Given the description of an element on the screen output the (x, y) to click on. 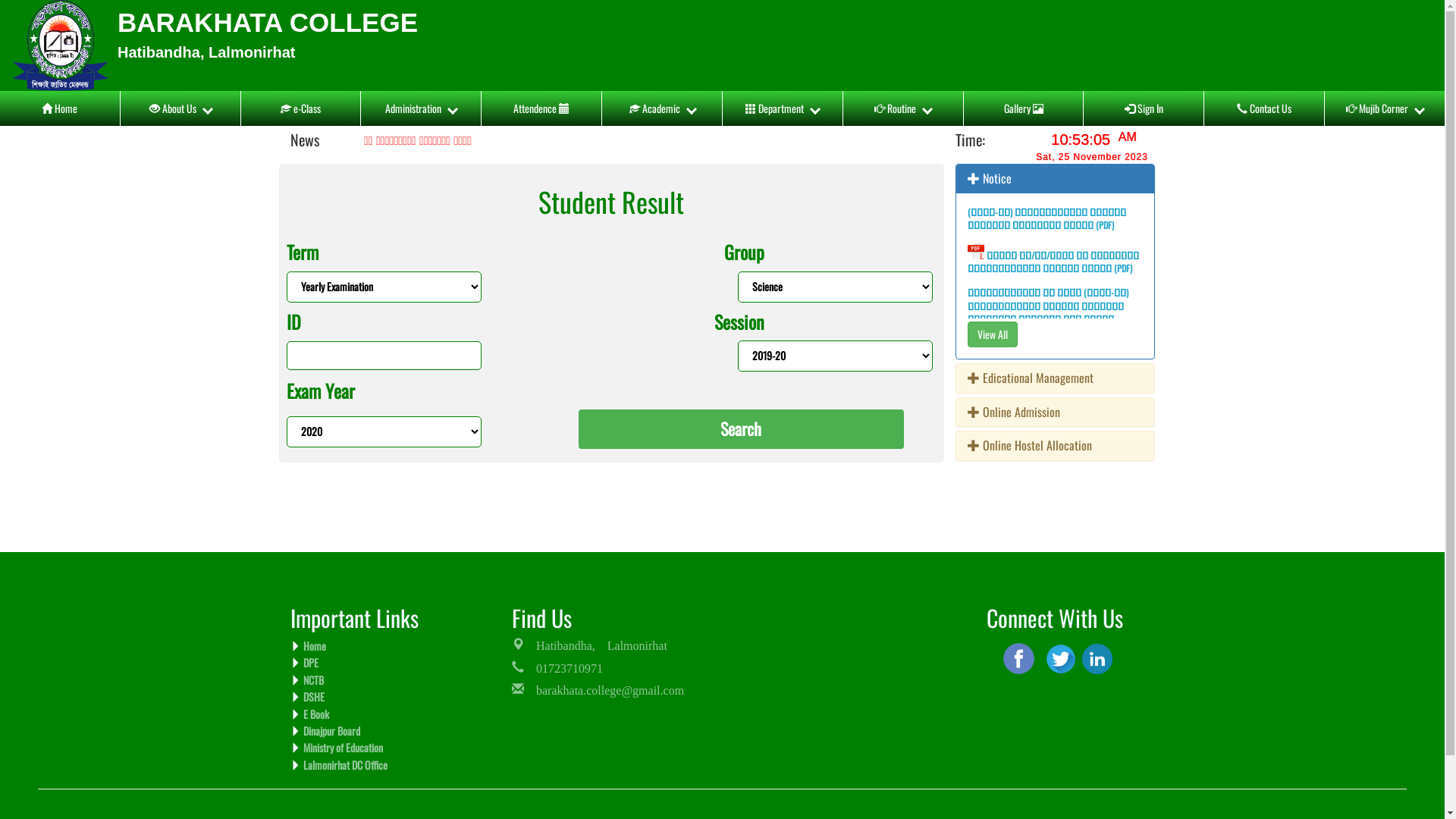
e-Class Element type: text (300, 108)
Ministry of Education Element type: text (341, 747)
Department Element type: text (782, 108)
View All Element type: text (992, 332)
Attendence Element type: text (541, 108)
Hatibandha, Lalmonirhat Element type: text (589, 643)
Contact Us Element type: text (1264, 108)
E Book Element type: text (314, 713)
Administration Element type: text (420, 108)
01723710971 Element type: text (556, 666)
Mahmud Jamil Element type: hover (1060, 658)
Lalmonirhat DC Office Element type: text (343, 764)
Search Element type: text (740, 428)
Home Element type: text (59, 108)
Dinajpur Board Element type: text (329, 730)
NCTB Element type: text (311, 679)
About Us Element type: text (180, 108)
Routine Element type: text (903, 108)
Mahmud Jamil Element type: hover (1018, 658)
Sign In Element type: text (1143, 108)
Mahmud Jamil Element type: hover (1097, 658)
Online Hostel Allocation Element type: text (1029, 445)
DPE Element type: text (308, 662)
Notice Element type: text (989, 178)
Edicational Management Element type: text (1030, 377)
Academic Element type: text (661, 108)
Online Admission Element type: text (1013, 411)
View All Element type: text (992, 334)
Gallery Element type: text (1023, 108)
Mujib Corner Element type: text (1384, 108)
Home Element type: text (312, 645)
barakhata.college@gmail.com Element type: text (597, 688)
DSHE Element type: text (311, 696)
